Given the description of an element on the screen output the (x, y) to click on. 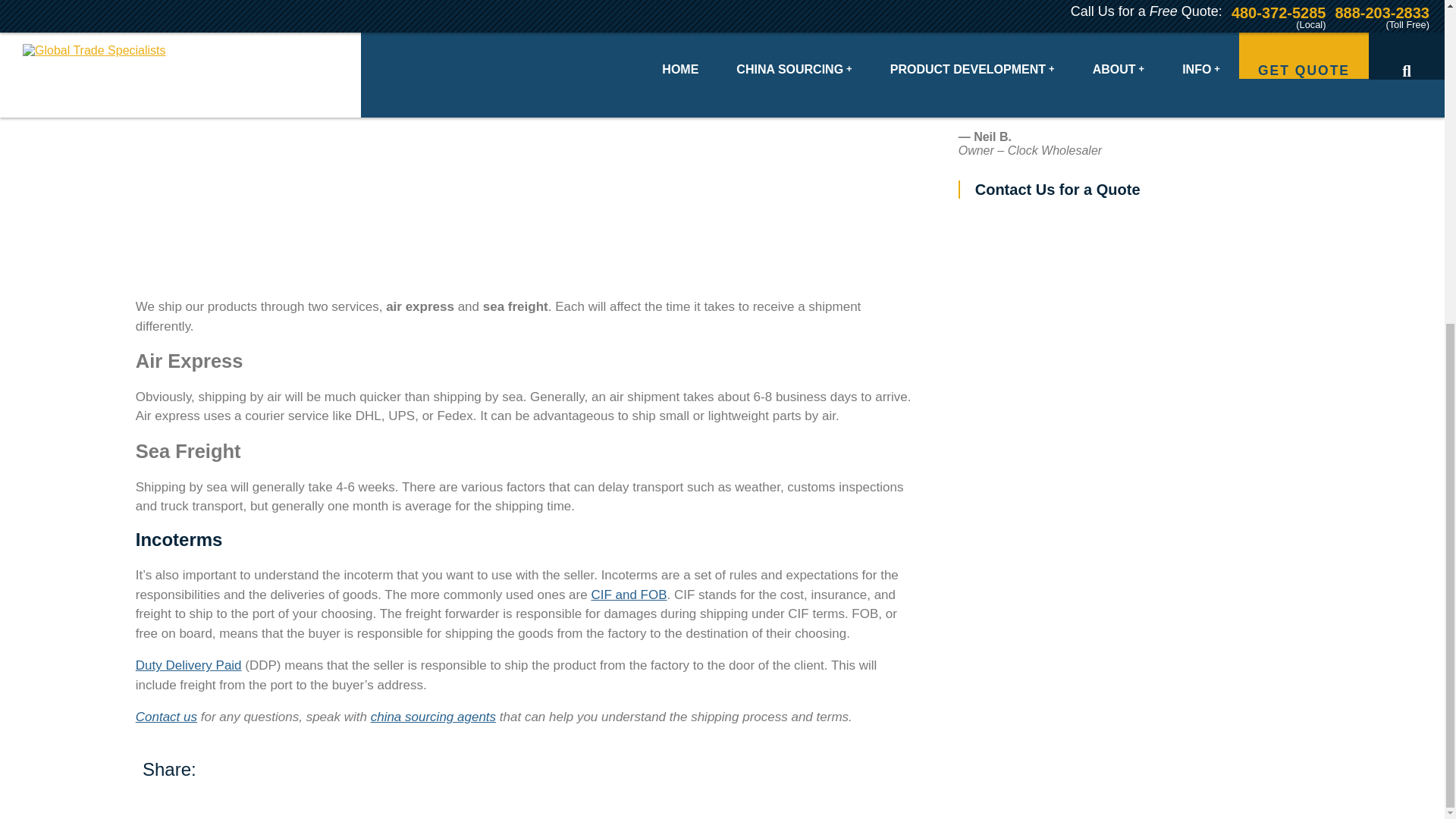
CIF and FOB (628, 594)
Duty Delivery Paid (188, 665)
